Given the description of an element on the screen output the (x, y) to click on. 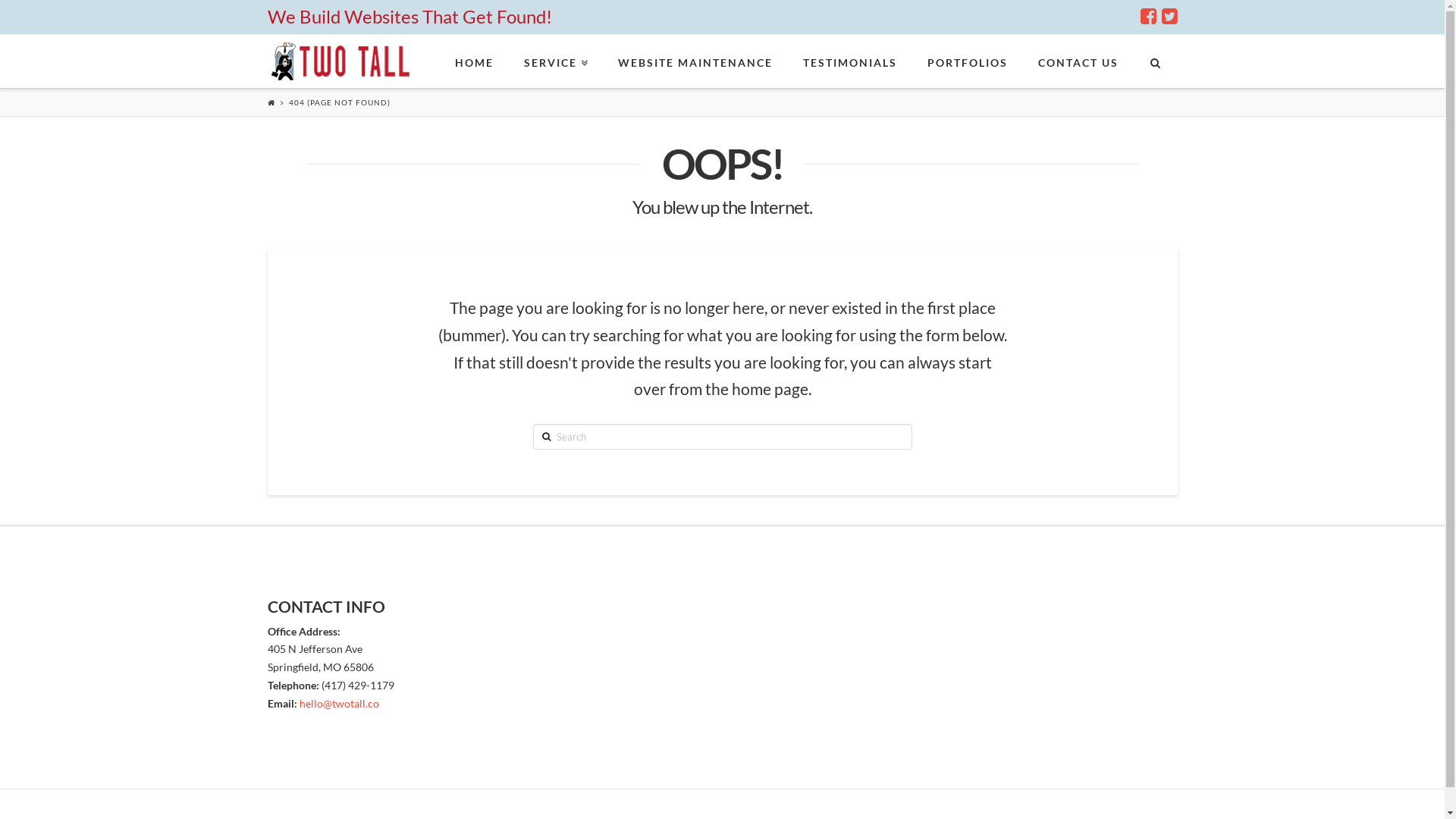
TESTIMONIALS Element type: text (849, 60)
hello@twotall.co Element type: text (338, 702)
WEBSITE MAINTENANCE Element type: text (694, 60)
SERVICE Element type: text (555, 60)
Twitter Element type: hover (1169, 16)
HOME Element type: text (473, 60)
PORTFOLIOS Element type: text (967, 60)
Facebook Element type: hover (1148, 16)
CONTACT US Element type: text (1077, 60)
